Given the description of an element on the screen output the (x, y) to click on. 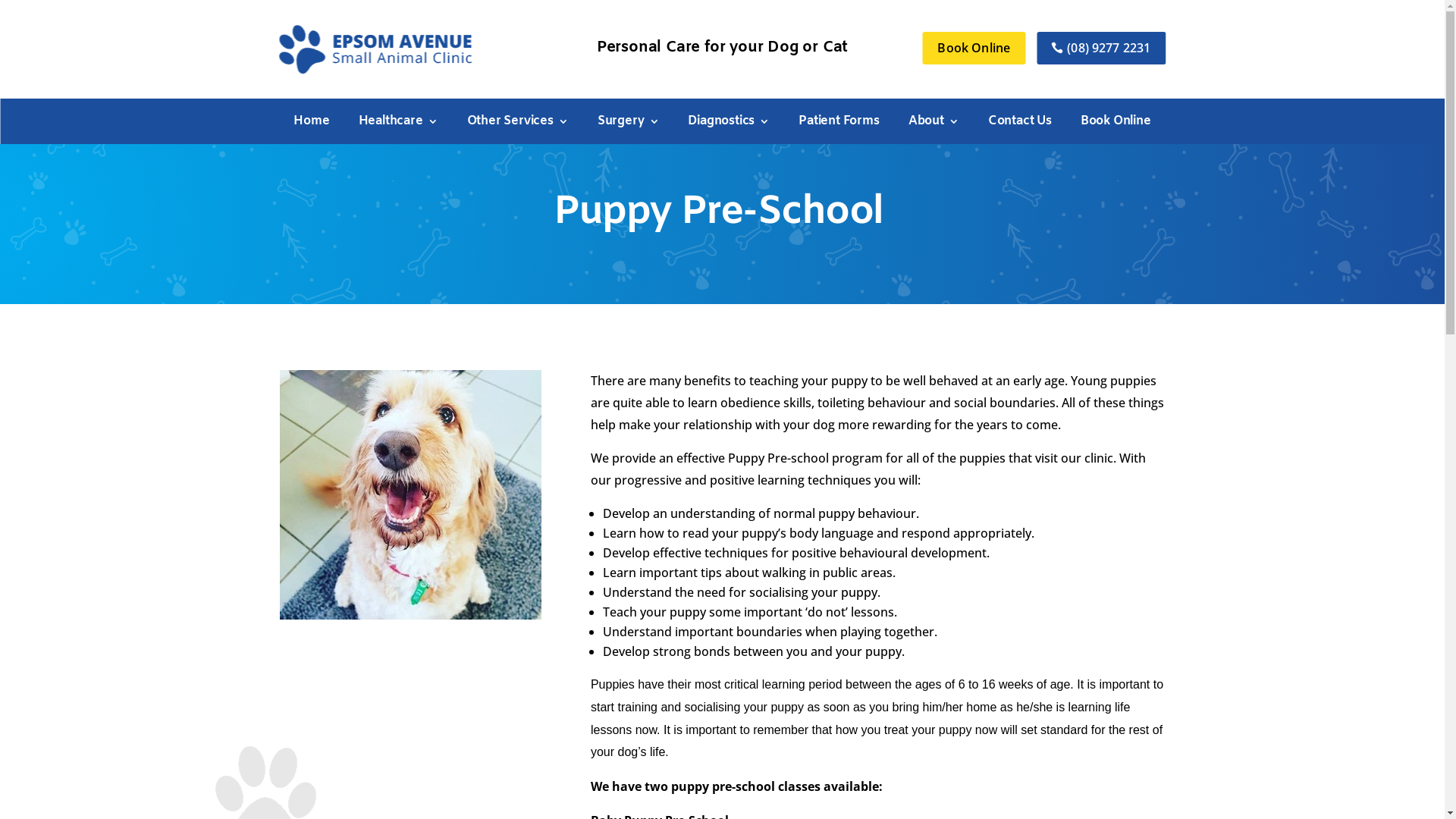
Healthcare Element type: text (398, 123)
logo Element type: hover (375, 49)
Book Online Element type: text (973, 47)
Other Services Element type: text (517, 123)
Surgery Element type: text (628, 123)
Diagnostics Element type: text (728, 123)
Book Online Element type: text (1115, 123)
About Element type: text (933, 123)
Patient Forms Element type: text (838, 123)
Home Element type: text (311, 123)
Contact Us Element type: text (1019, 123)
(08) 9277 2231 Element type: text (1100, 47)
